Given the description of an element on the screen output the (x, y) to click on. 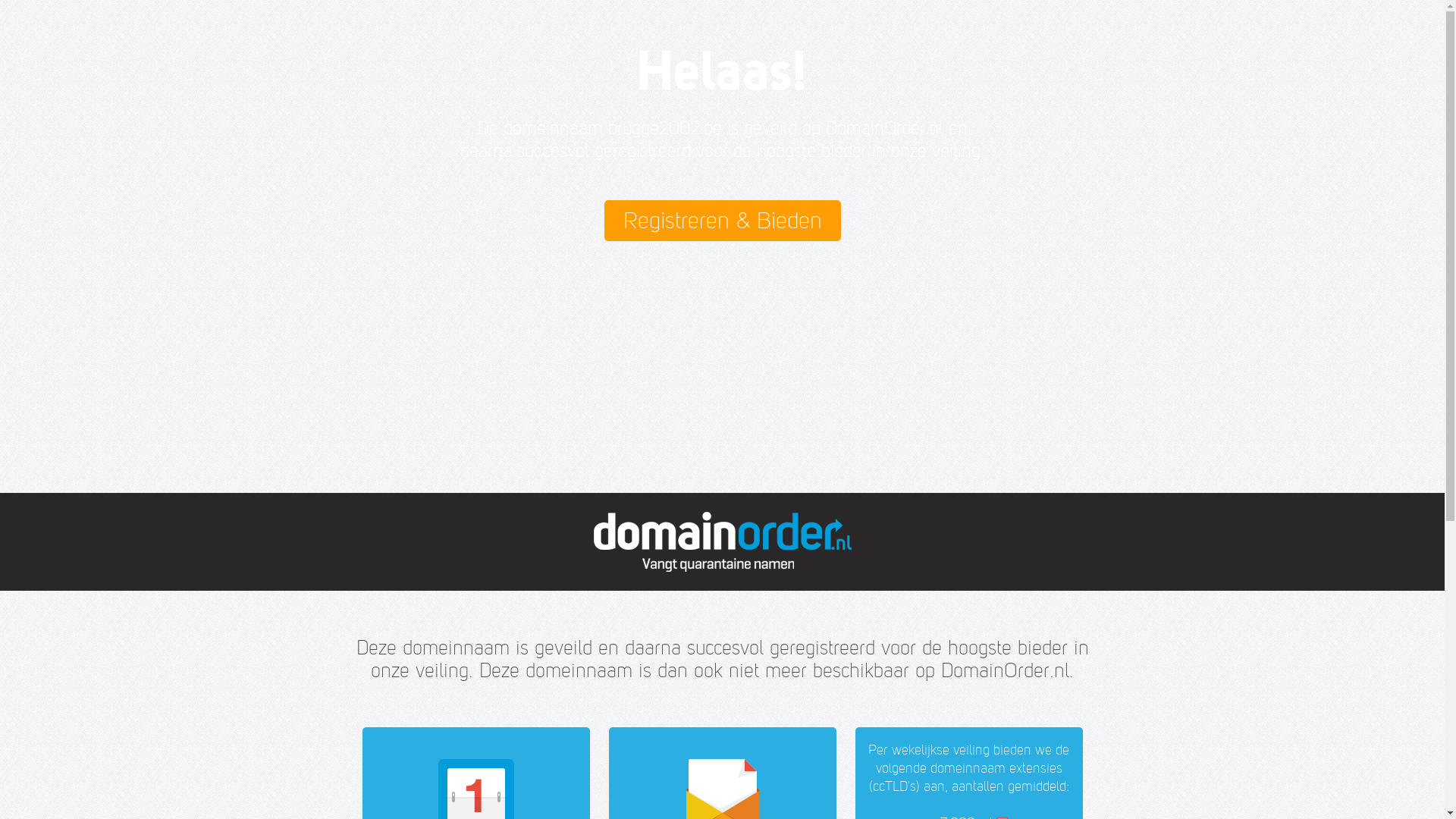
Registreren & Bieden Element type: text (721, 220)
